Given the description of an element on the screen output the (x, y) to click on. 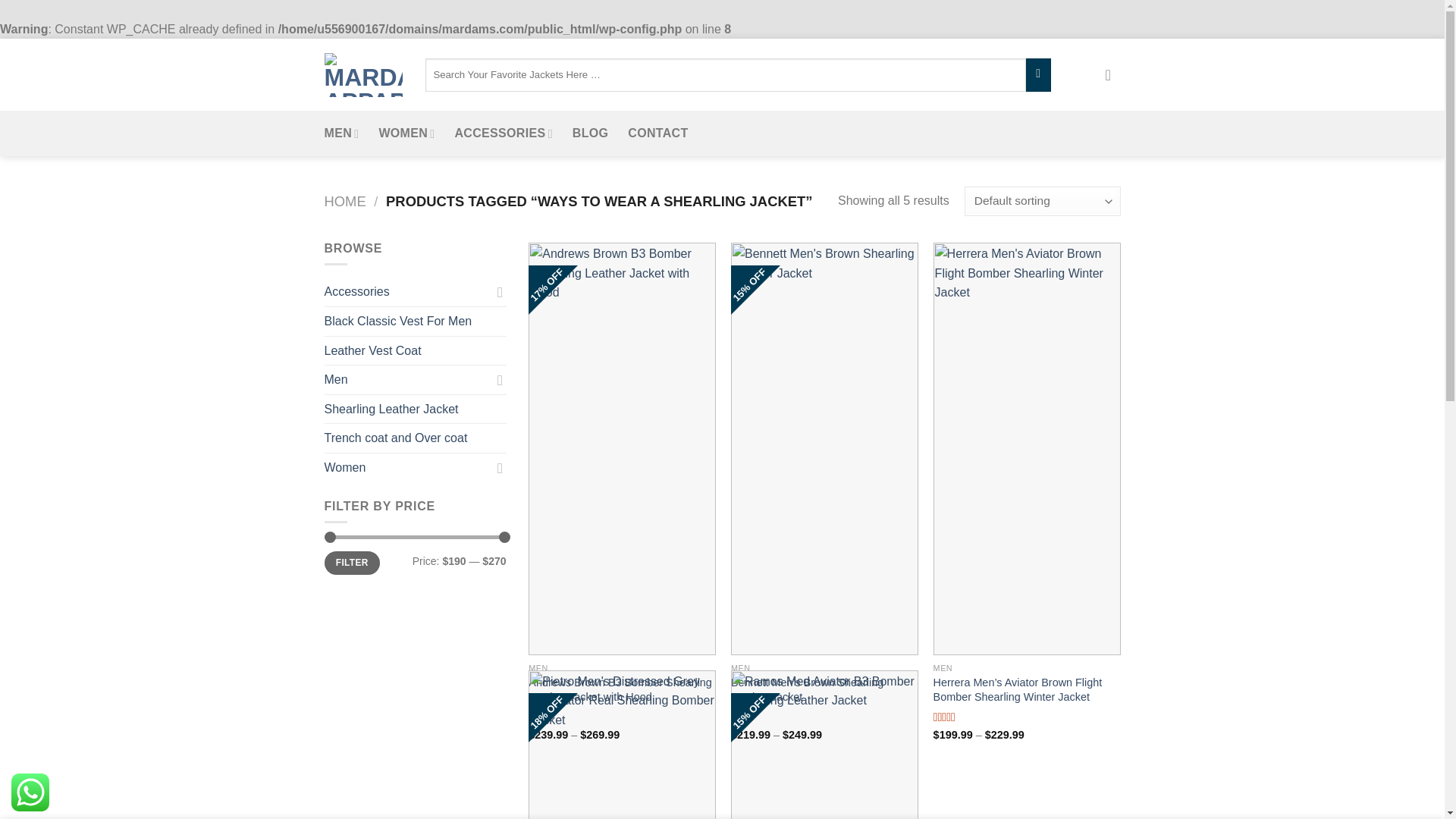
CONTACT (657, 133)
Black Classic Vest For Men (415, 321)
ACCESSORIES (502, 133)
WOMEN (405, 133)
Men (407, 379)
Trench coat and Over coat (415, 438)
Accessories (407, 291)
Shearling Leather Jacket (415, 409)
HOME (345, 201)
Women (407, 467)
